Given the description of an element on the screen output the (x, y) to click on. 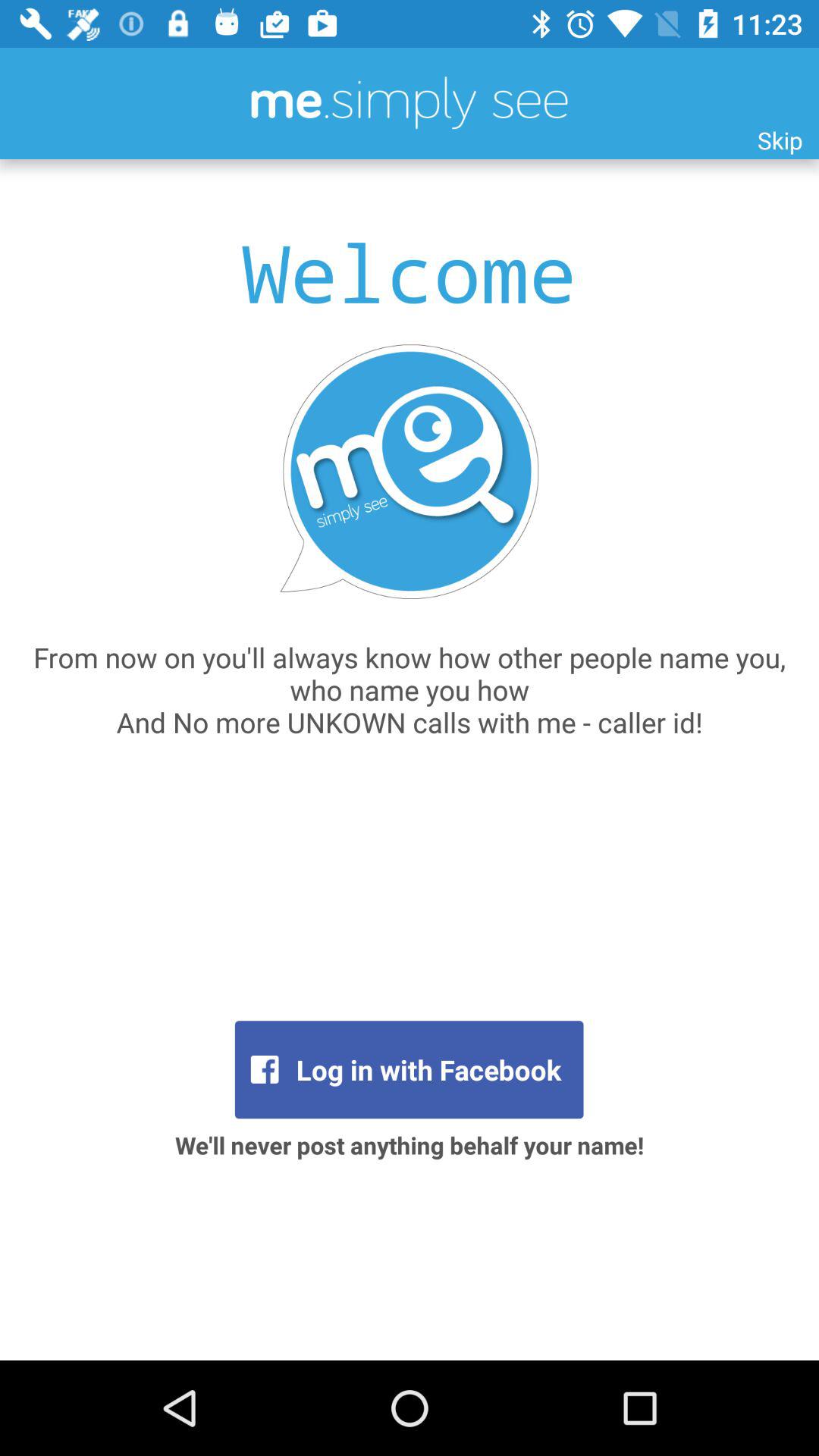
tap skip item (780, 139)
